Given the description of an element on the screen output the (x, y) to click on. 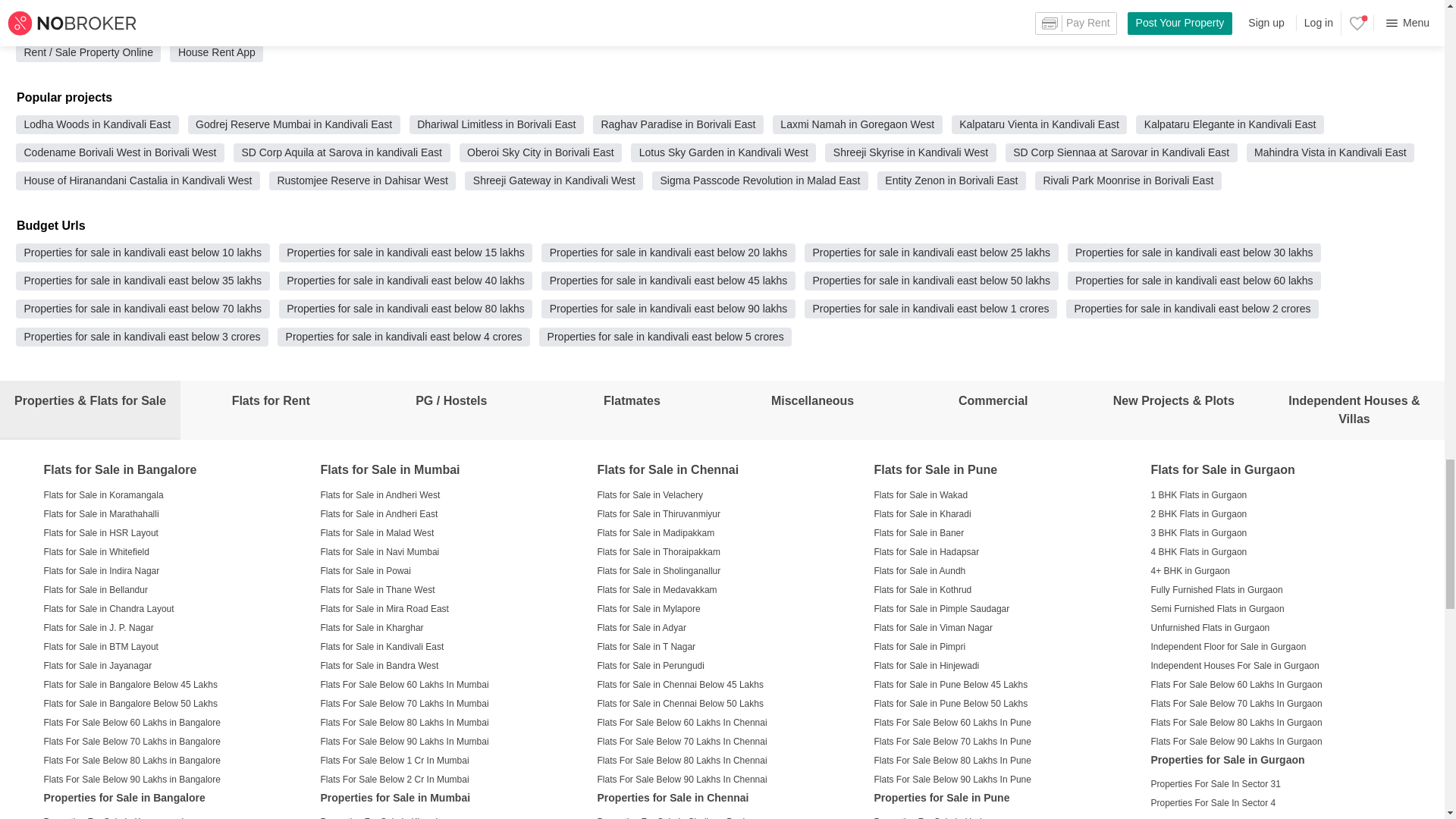
Flats for Sale in J. P. Nagar (98, 626)
 House Rent App (216, 51)
Flats For Sale Below 60 Lakhs in Bangalore (132, 722)
Flats for Sale in Bangalore (119, 470)
Flats for Sale in BTM Layout (100, 646)
Flats For Sale Below 80 Lakhs in Bangalore (132, 760)
Flats For Sale Below 90 Lakhs in Bangalore (132, 778)
Flats for Sale in Bangalore Below 50 Lakhs (129, 703)
Flats for Sale in Bangalore Below 45 Lakhs (129, 684)
Flats for Sale in Bellandur (95, 589)
Flats for Sale in Marathahalli (100, 513)
Flats for Sale in Koramangala (103, 495)
Flats For Sale Below 70 Lakhs in Bangalore (132, 740)
Flats for Sale in HSR Layout (100, 532)
Flats for Sale in Indira Nagar (101, 571)
